Given the description of an element on the screen output the (x, y) to click on. 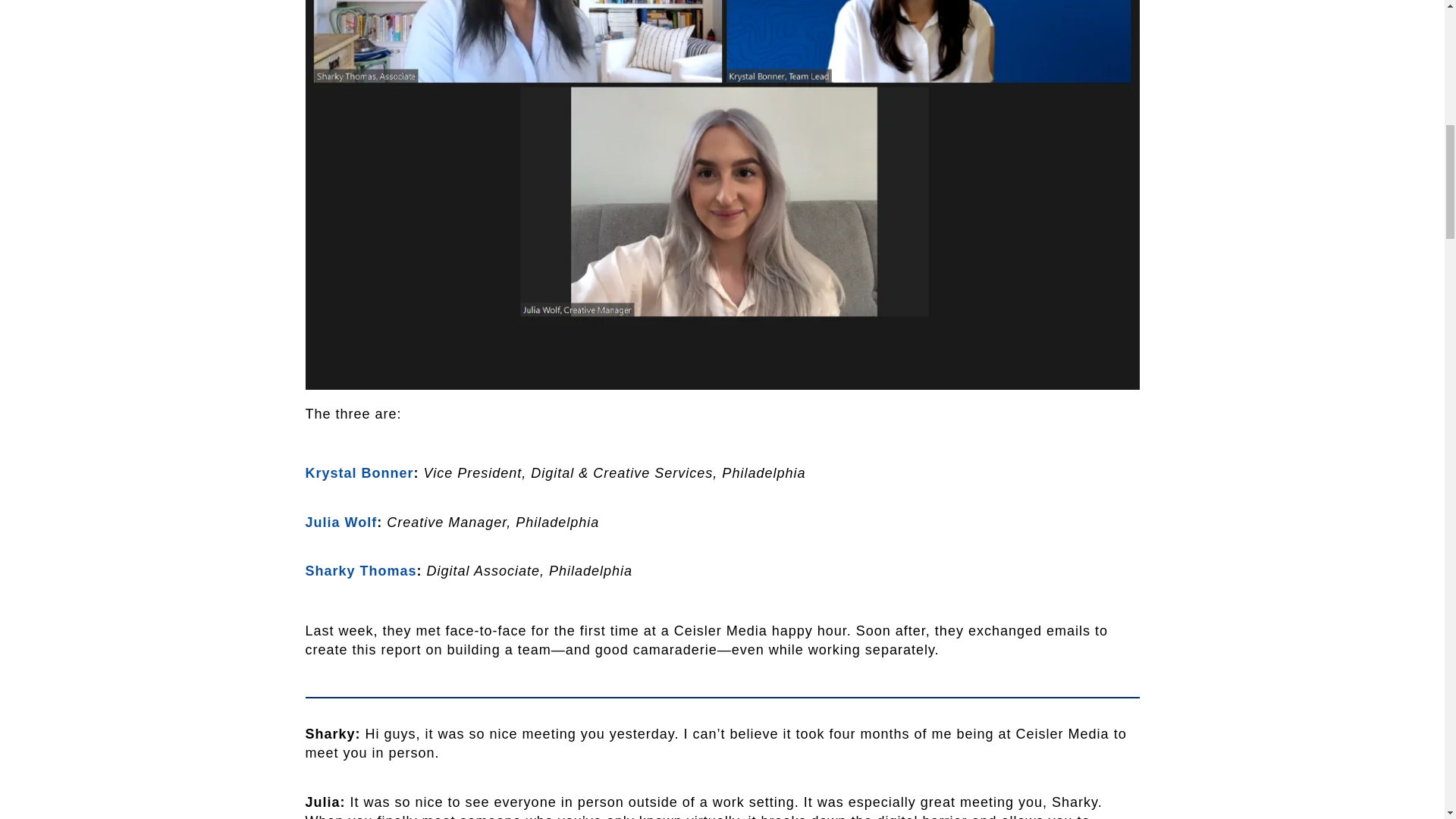
Julia Wolf (340, 522)
Sharky Thomas (360, 570)
Krystal Bonner (358, 473)
